Given the description of an element on the screen output the (x, y) to click on. 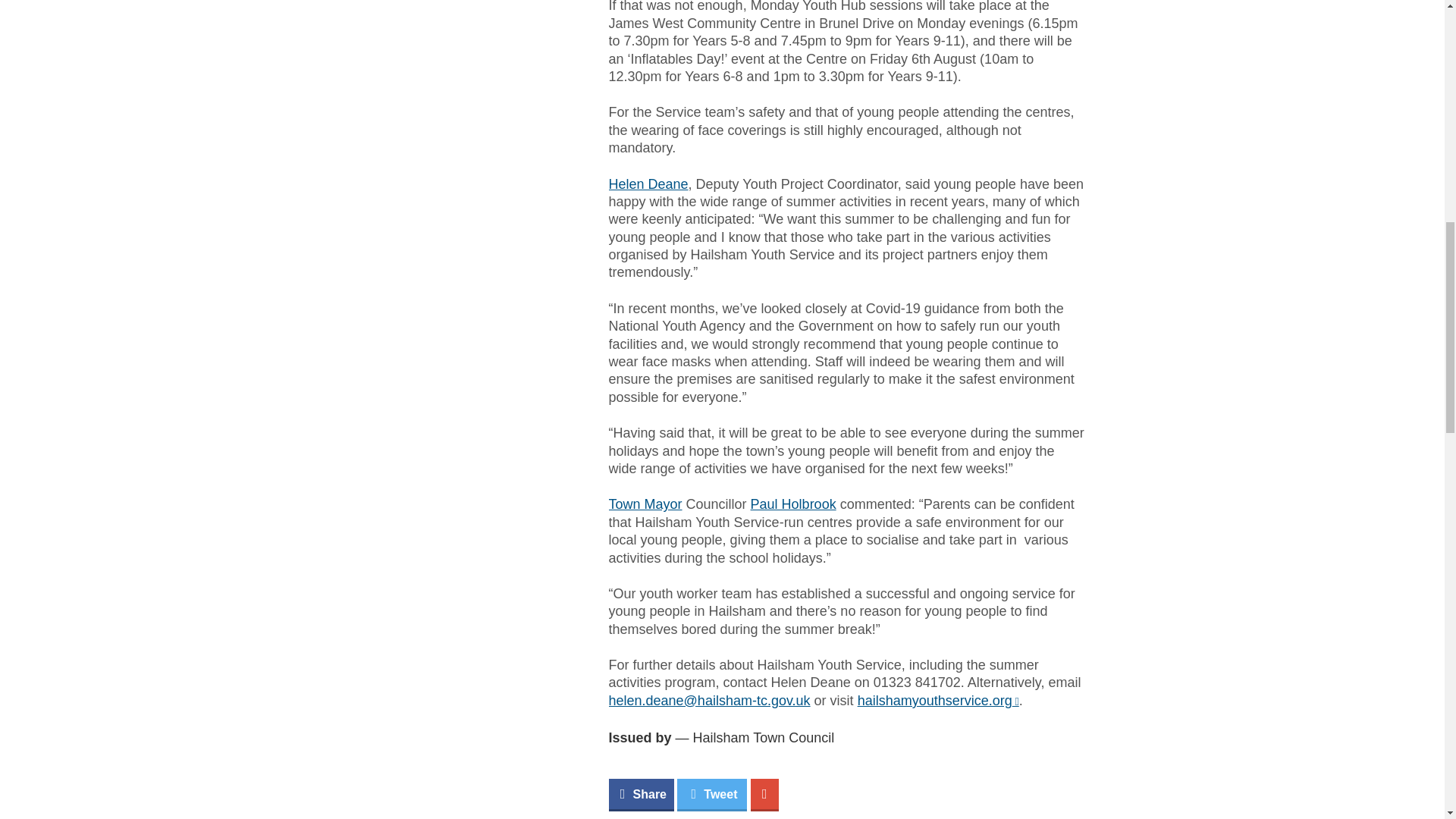
Town Mayor (644, 503)
Helen Deane (647, 183)
Paul Holbrook (793, 503)
hailshamyouthservice.org (938, 700)
Share (640, 794)
Tweet (711, 794)
